Given the description of an element on the screen output the (x, y) to click on. 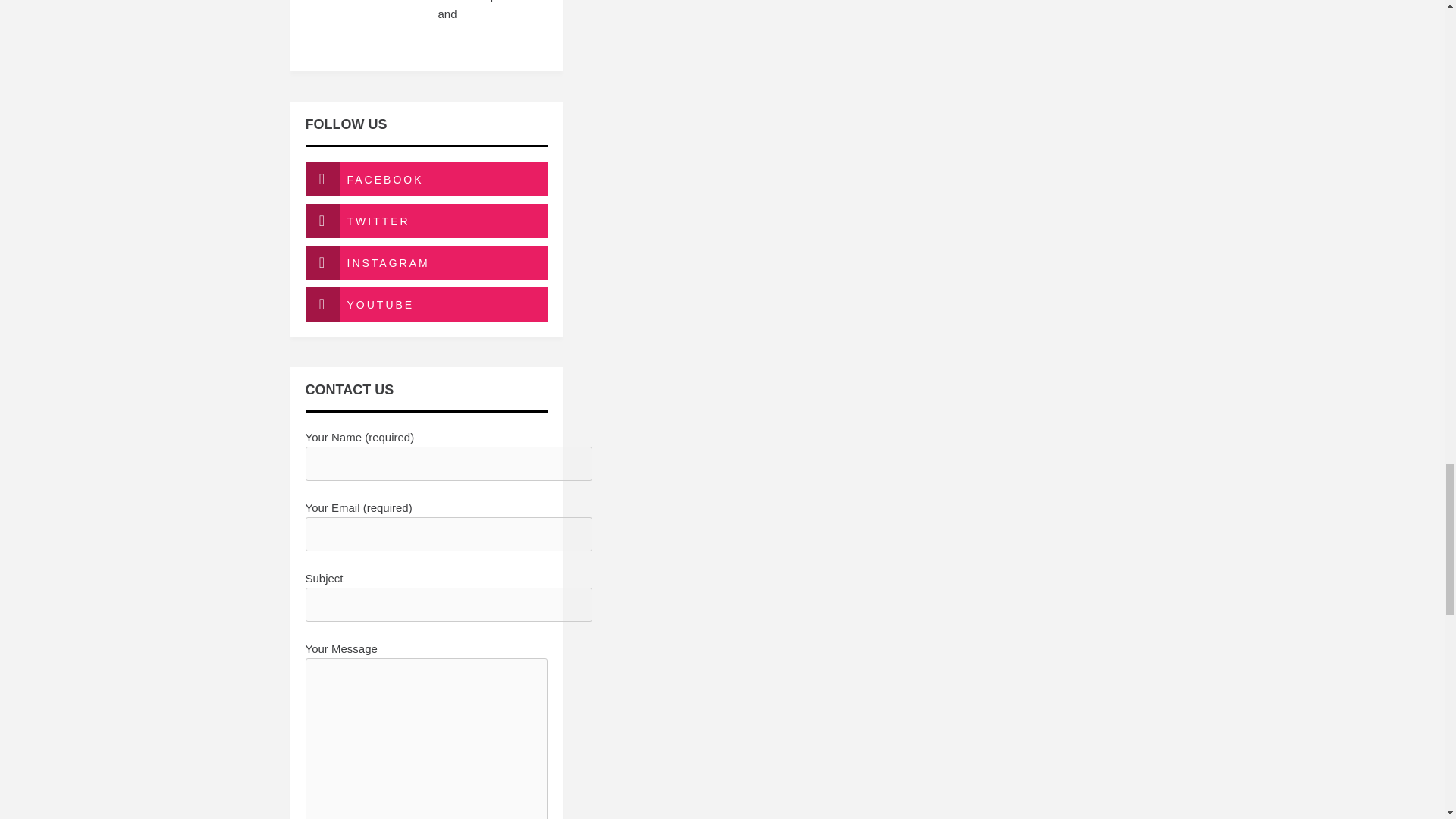
INSTAGRAM (425, 262)
TWITTER (425, 220)
FACEBOOK (425, 179)
YOUTUBE (425, 304)
